Given the description of an element on the screen output the (x, y) to click on. 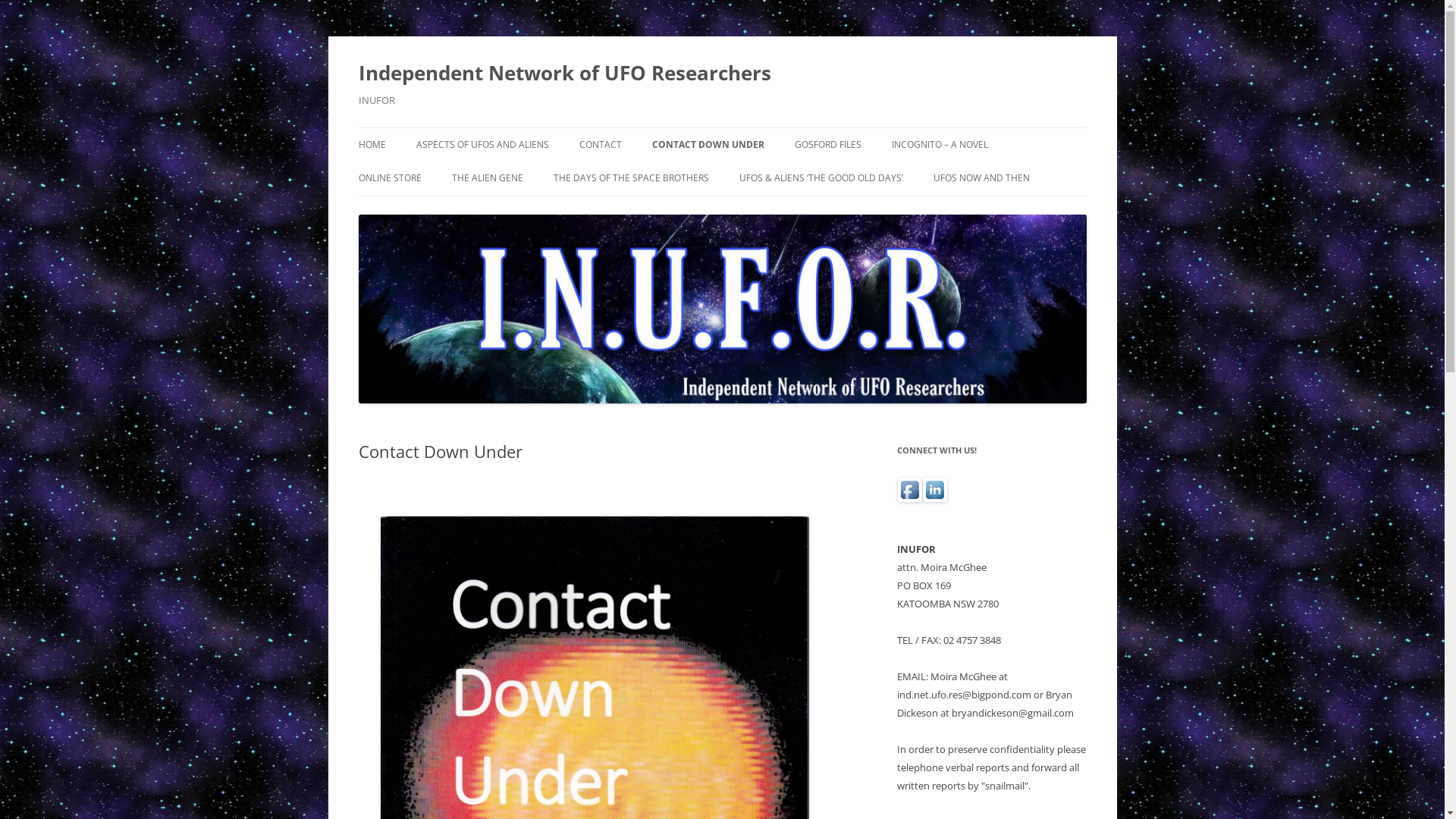
Skip to content Element type: text (759, 132)
ONLINE STORE Element type: text (388, 177)
UFOS NOW AND THEN Element type: text (980, 177)
Independent Network of UFO Researchers Element type: text (563, 72)
THE ALIEN GENE Element type: text (487, 177)
CONTACT Element type: text (600, 144)
Visit Us On Linkedin Element type: hover (934, 497)
CONTACT DOWN UNDER Element type: text (708, 144)
ASPECTS OF UFOS AND ALIENS Element type: text (481, 144)
GOSFORD FILES Element type: text (827, 144)
HOME Element type: text (371, 144)
Visit Us On Facebook Element type: hover (908, 497)
THE DAYS OF THE SPACE BROTHERS Element type: text (631, 177)
